Given the description of an element on the screen output the (x, y) to click on. 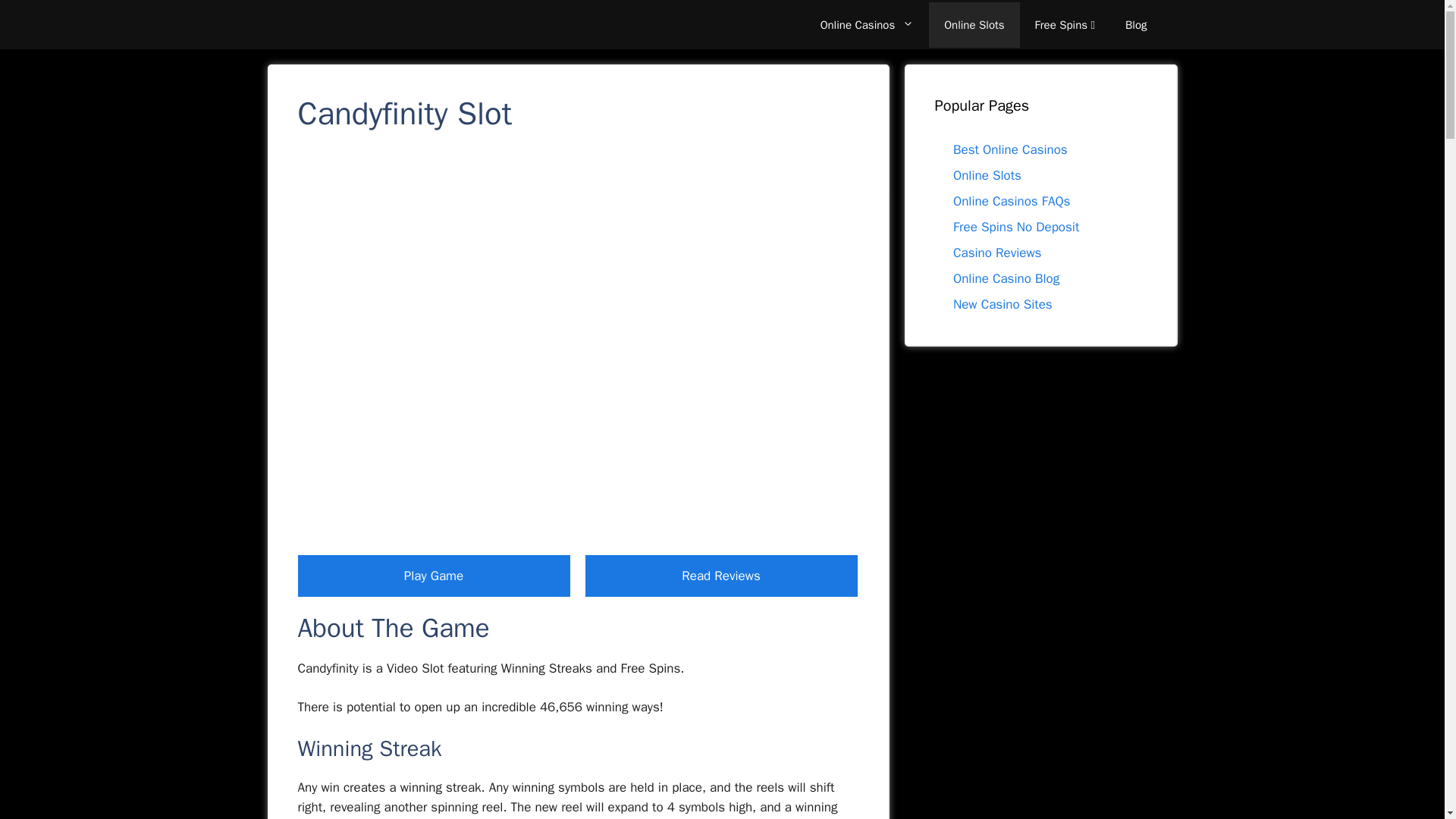
Online Casinos (867, 23)
Blog (1135, 23)
BestCasinoHQ (347, 24)
Read Reviews (721, 576)
Online Slots (973, 23)
Play Game (433, 576)
